Given the description of an element on the screen output the (x, y) to click on. 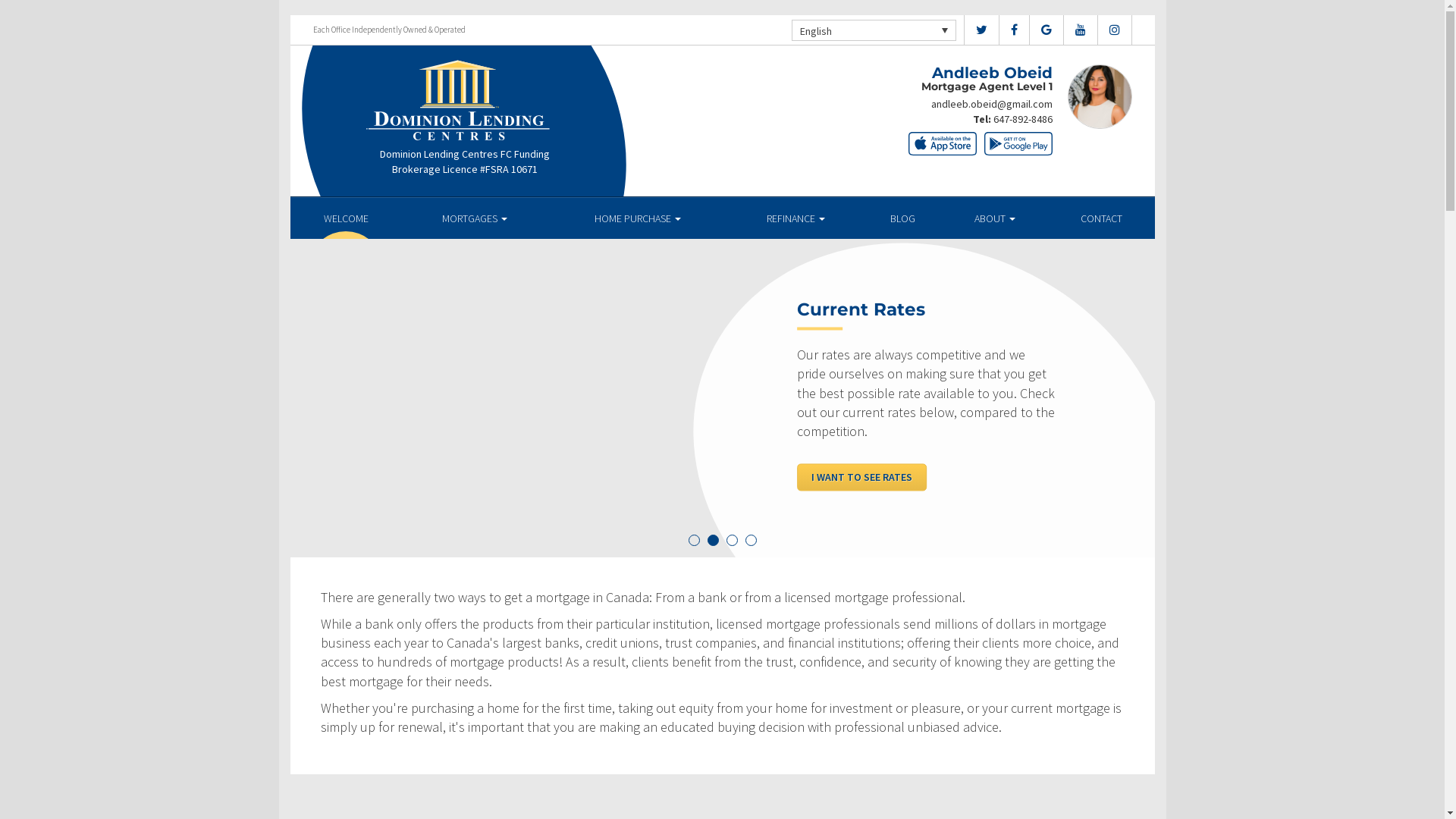
BLOG Element type: text (901, 217)
MORTGAGES Element type: text (474, 217)
I WANT TO SEE RATES Element type: text (861, 476)
WELCOME Element type: text (345, 217)
andleeb.obeid@gmail.com Element type: text (991, 103)
REFINANCE Element type: text (795, 217)
HOME PURCHASE Element type: text (637, 217)
ABOUT Element type: text (994, 217)
English Element type: text (873, 29)
CONTACT Element type: text (1101, 217)
647-892-8486 Element type: text (1022, 118)
